Given the description of an element on the screen output the (x, y) to click on. 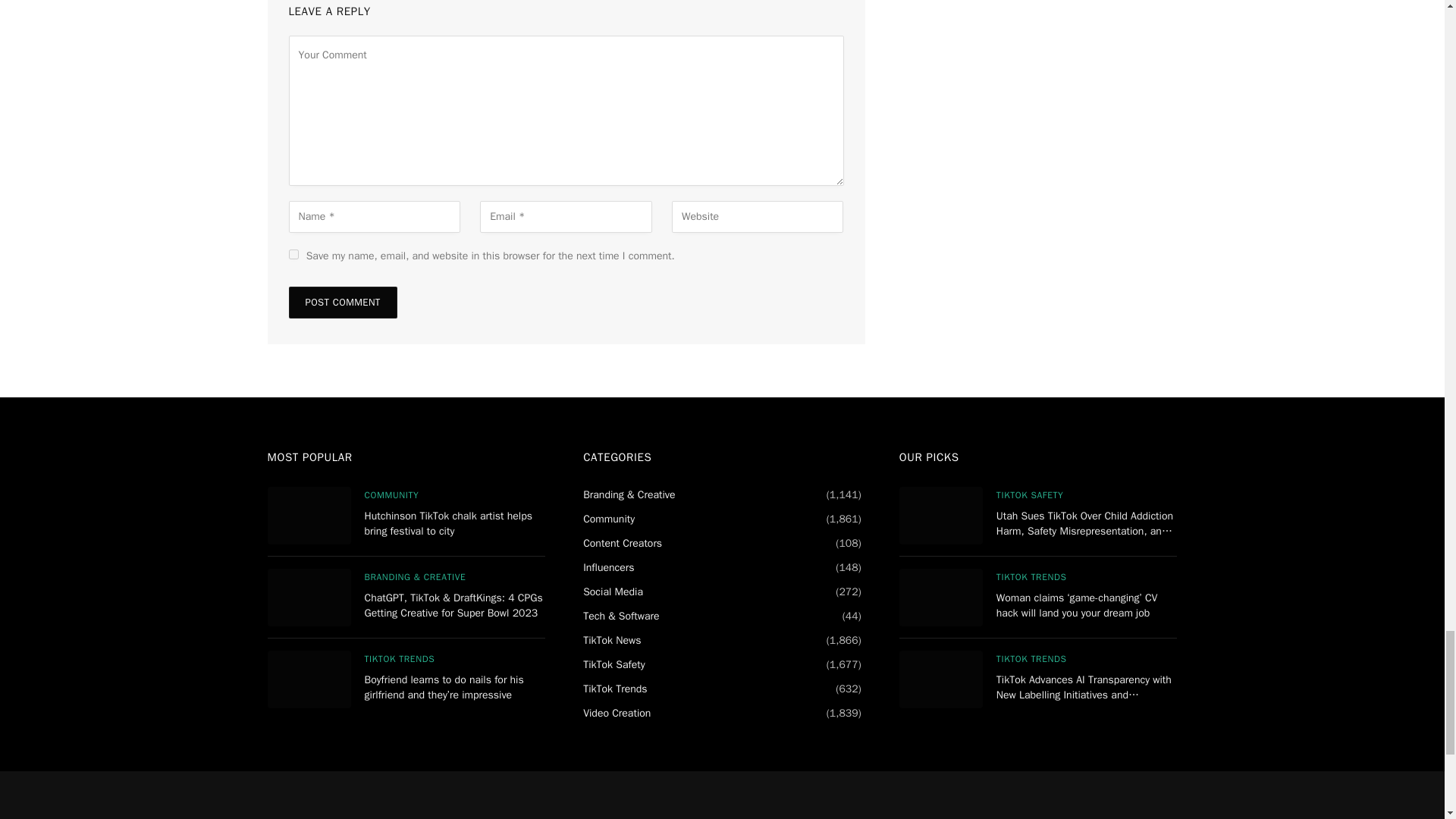
yes (293, 254)
Post Comment (342, 302)
